Given the description of an element on the screen output the (x, y) to click on. 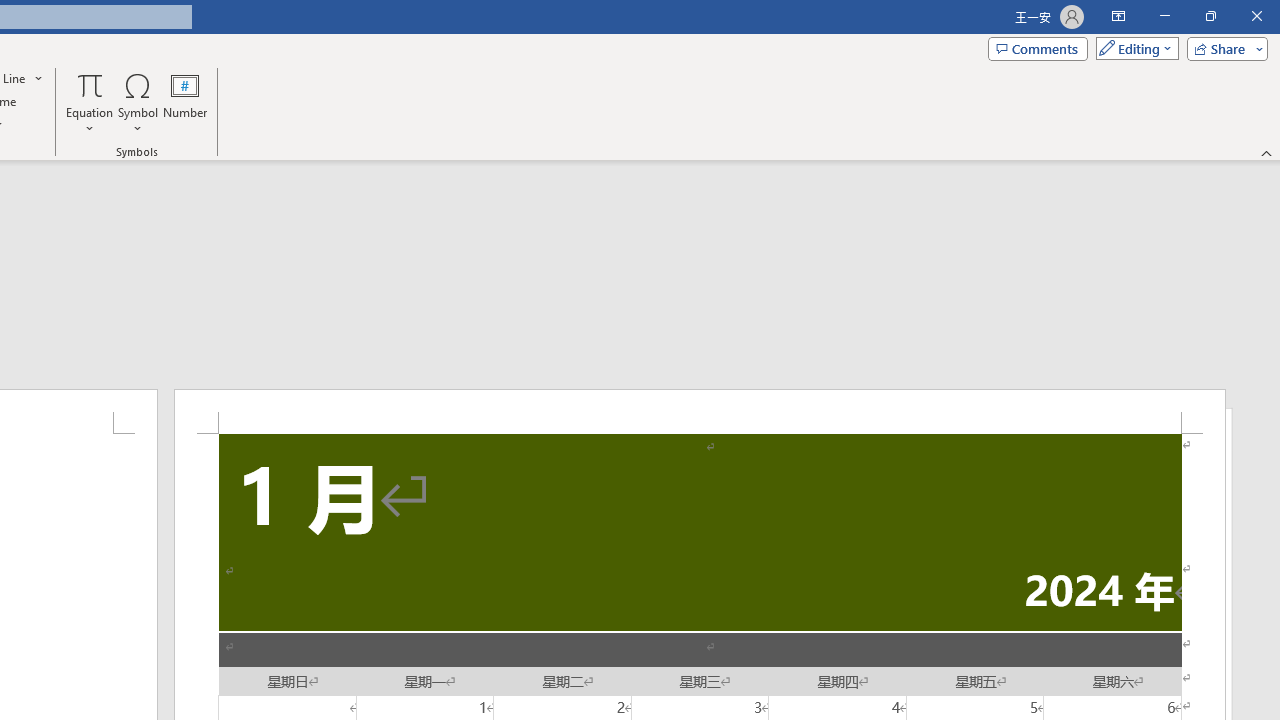
Number... (185, 102)
Symbol (138, 102)
Equation (90, 102)
Equation (90, 84)
